Given the description of an element on the screen output the (x, y) to click on. 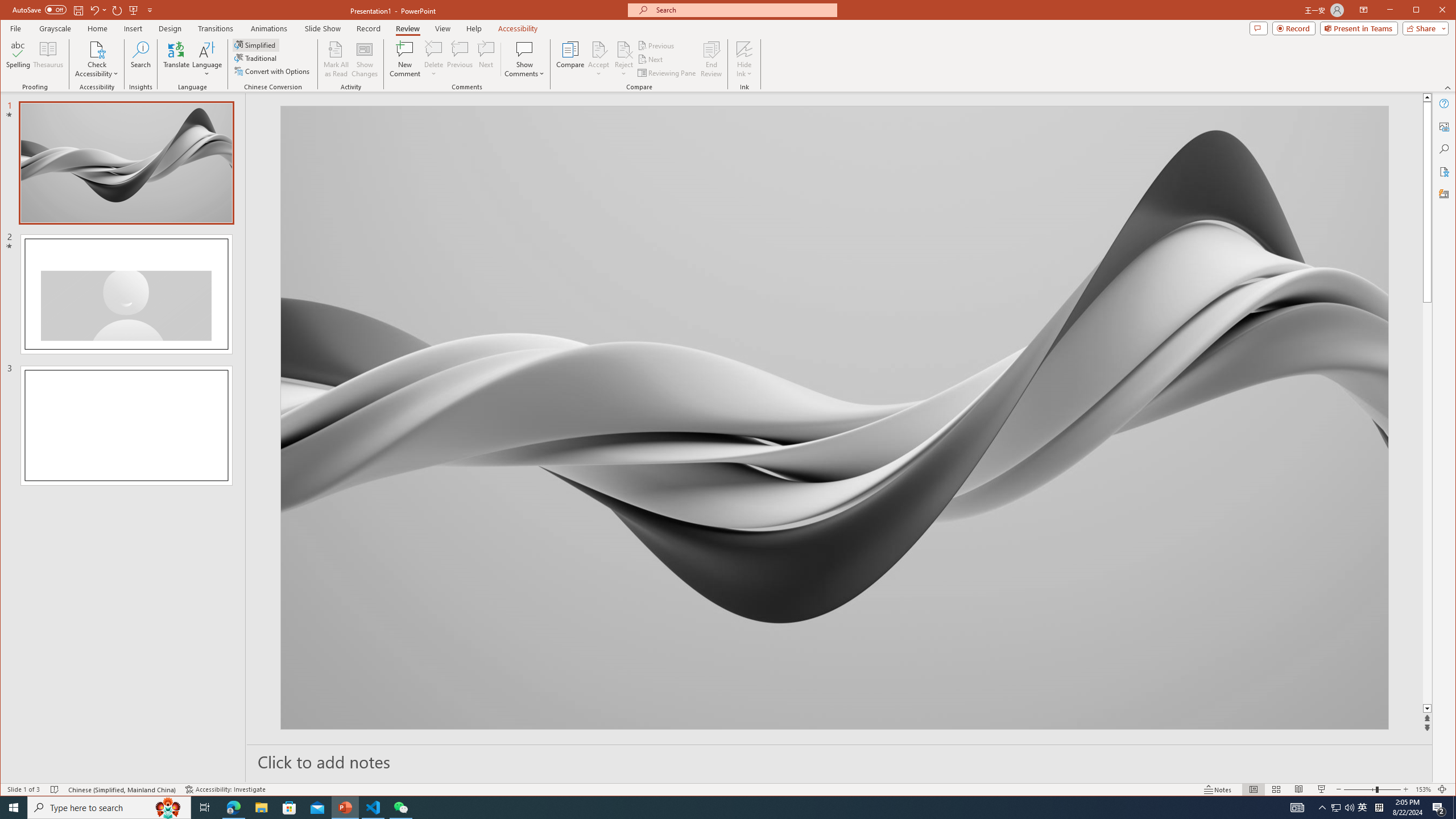
WeChat - 1 running window (400, 807)
New Comment (405, 59)
